Given the description of an element on the screen output the (x, y) to click on. 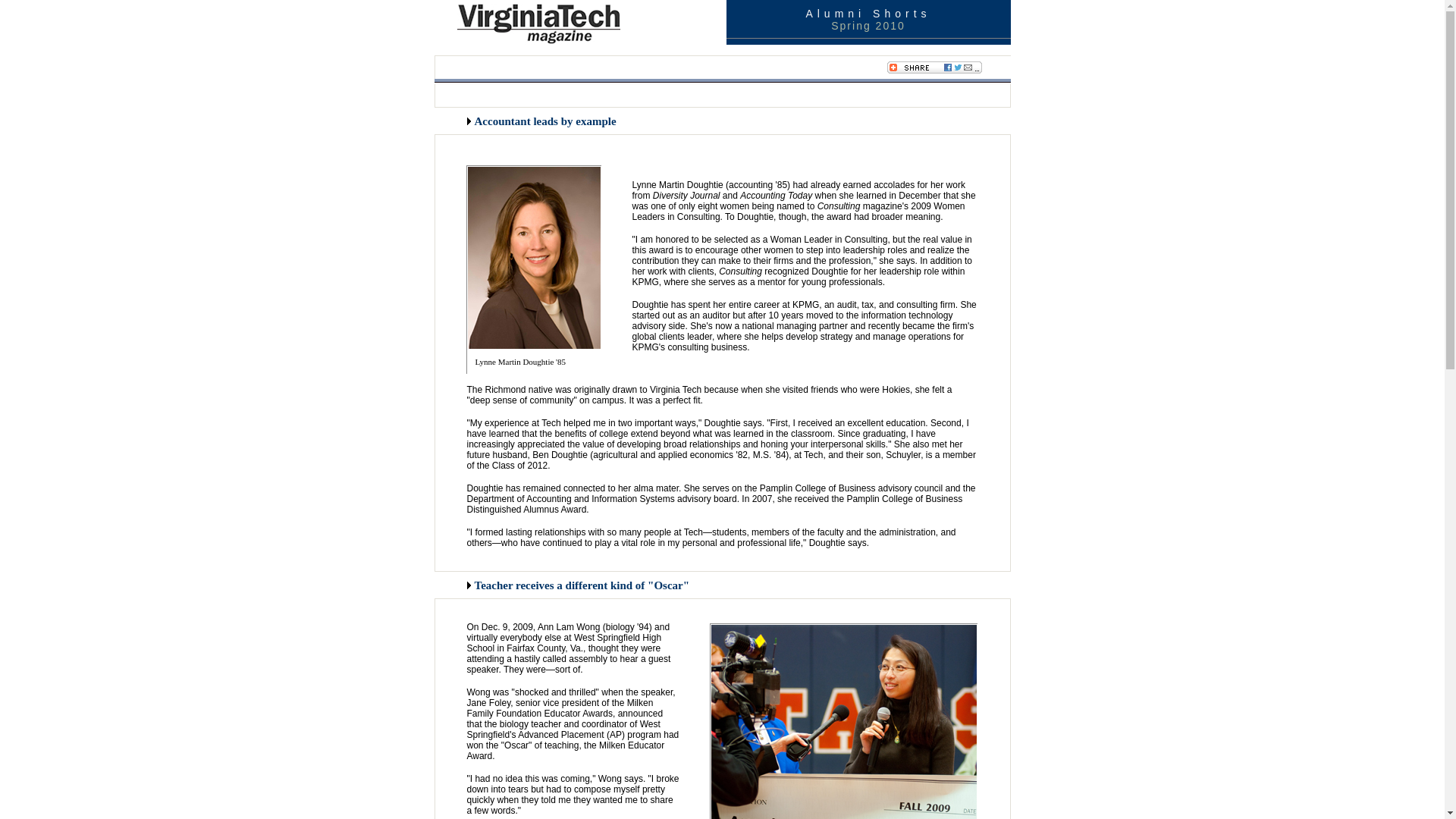
Spring 2010 (868, 25)
